Given the description of an element on the screen output the (x, y) to click on. 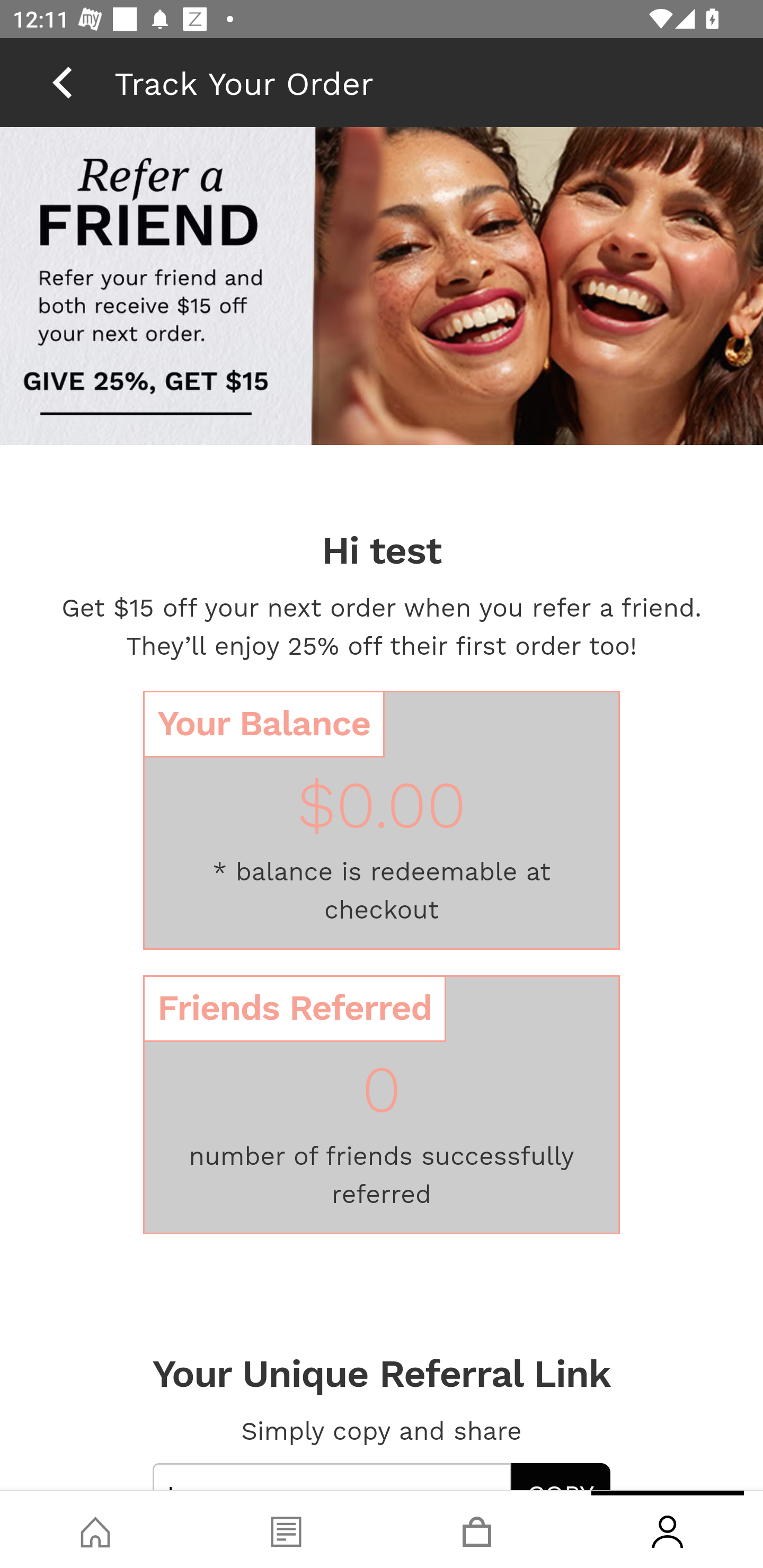
back (61, 82)
raf (381, 288)
raf (381, 415)
Shop, tab, 1 of 4 (95, 1529)
Blog, tab, 2 of 4 (285, 1529)
Basket, tab, 3 of 4 (476, 1529)
Account, tab, 4 of 4 (667, 1529)
